Given the description of an element on the screen output the (x, y) to click on. 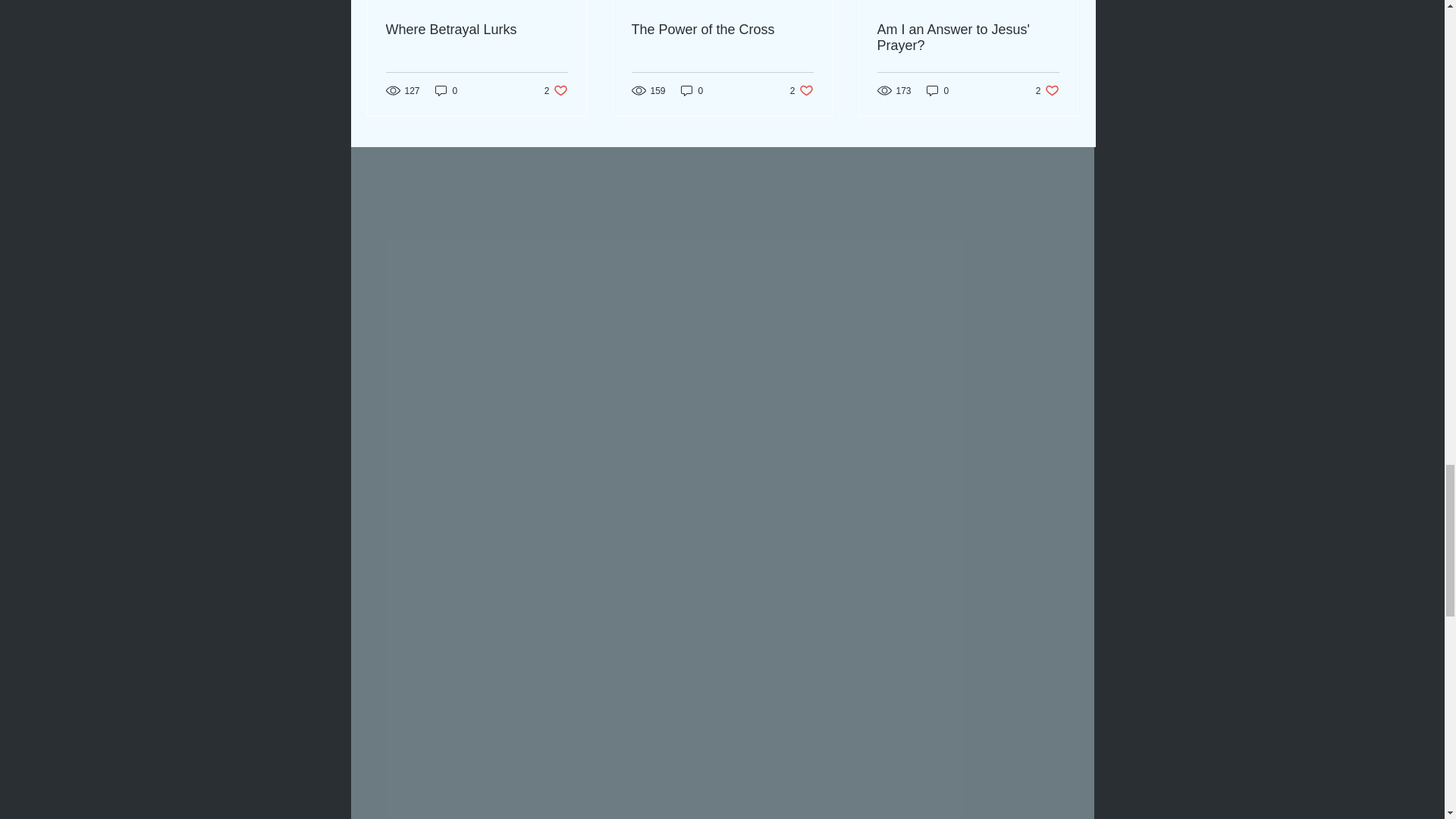
0 (691, 90)
0 (801, 90)
The Power of the Cross (446, 90)
0 (721, 29)
Am I an Answer to Jesus' Prayer? (555, 90)
Where Betrayal Lurks (937, 90)
